Given the description of an element on the screen output the (x, y) to click on. 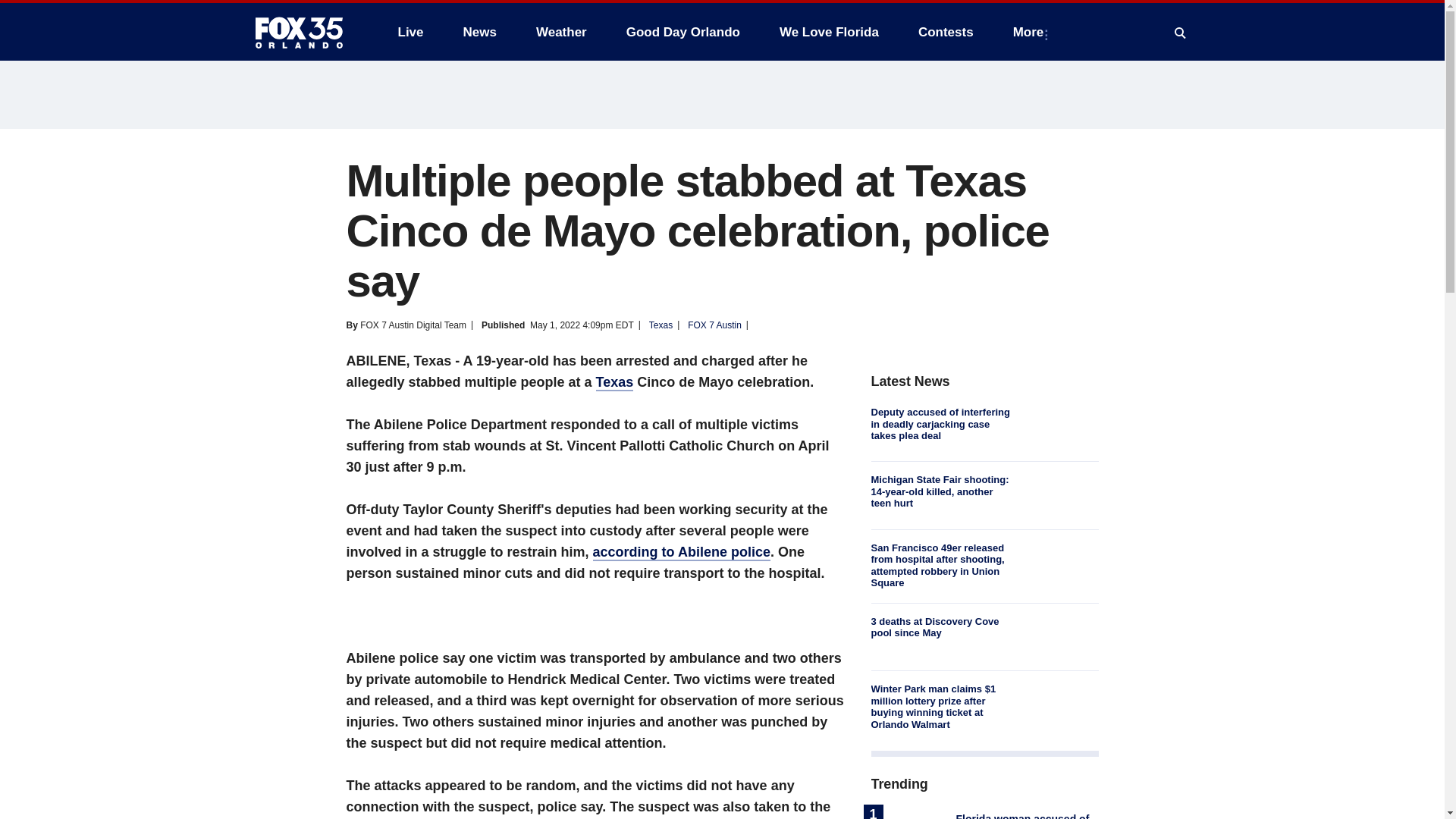
Good Day Orlando (683, 32)
More (1031, 32)
News (479, 32)
Contests (945, 32)
We Love Florida (829, 32)
Weather (561, 32)
Live (410, 32)
